Given the description of an element on the screen output the (x, y) to click on. 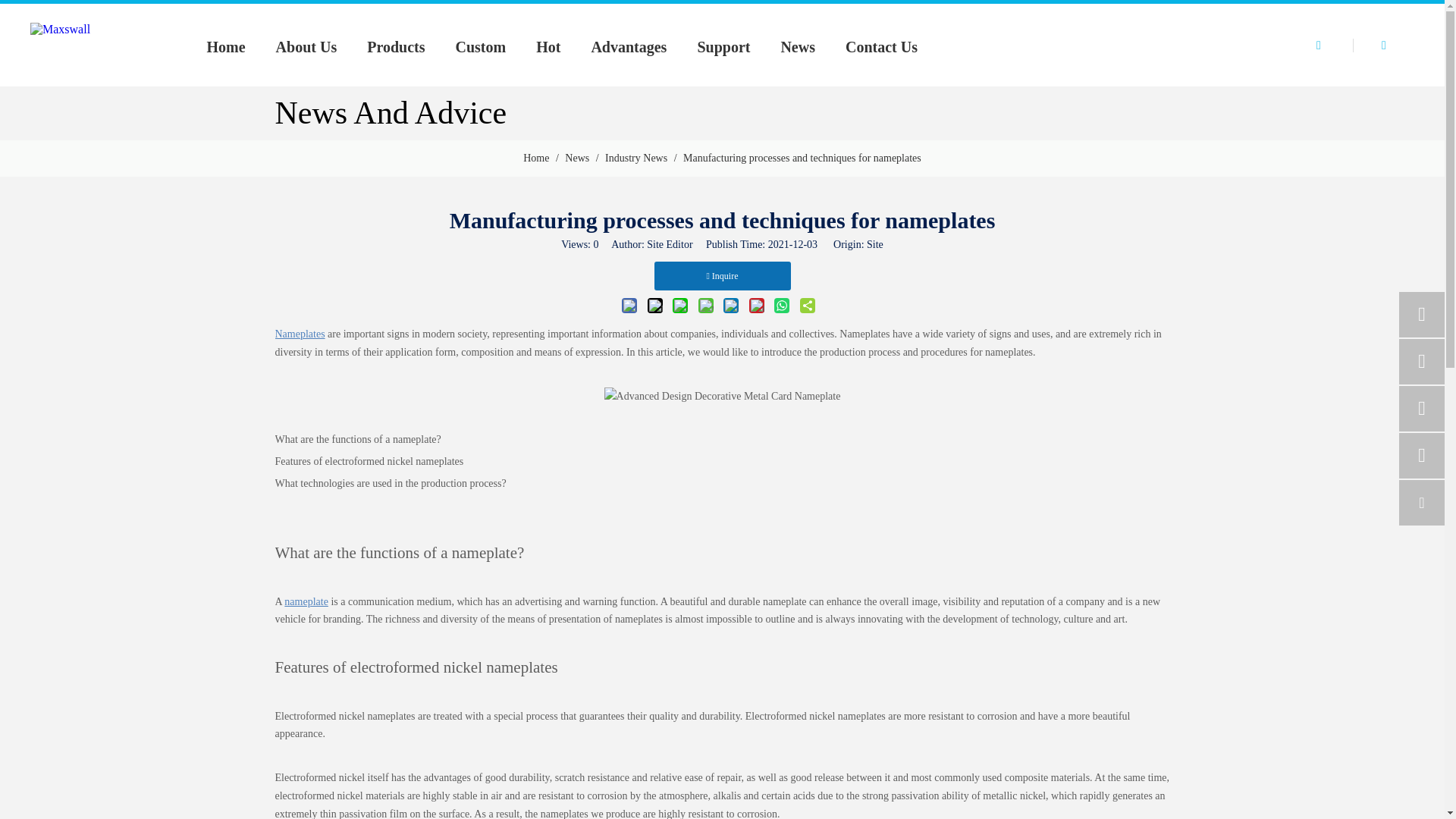
Products (395, 46)
Contact Us (881, 46)
Industry News (637, 157)
Site (874, 244)
Custom (480, 46)
Advantages (628, 46)
Home (536, 157)
Home (225, 46)
Inquire (721, 275)
Hot (548, 46)
Support (723, 46)
News (797, 46)
About Us (306, 46)
News (577, 157)
